Given the description of an element on the screen output the (x, y) to click on. 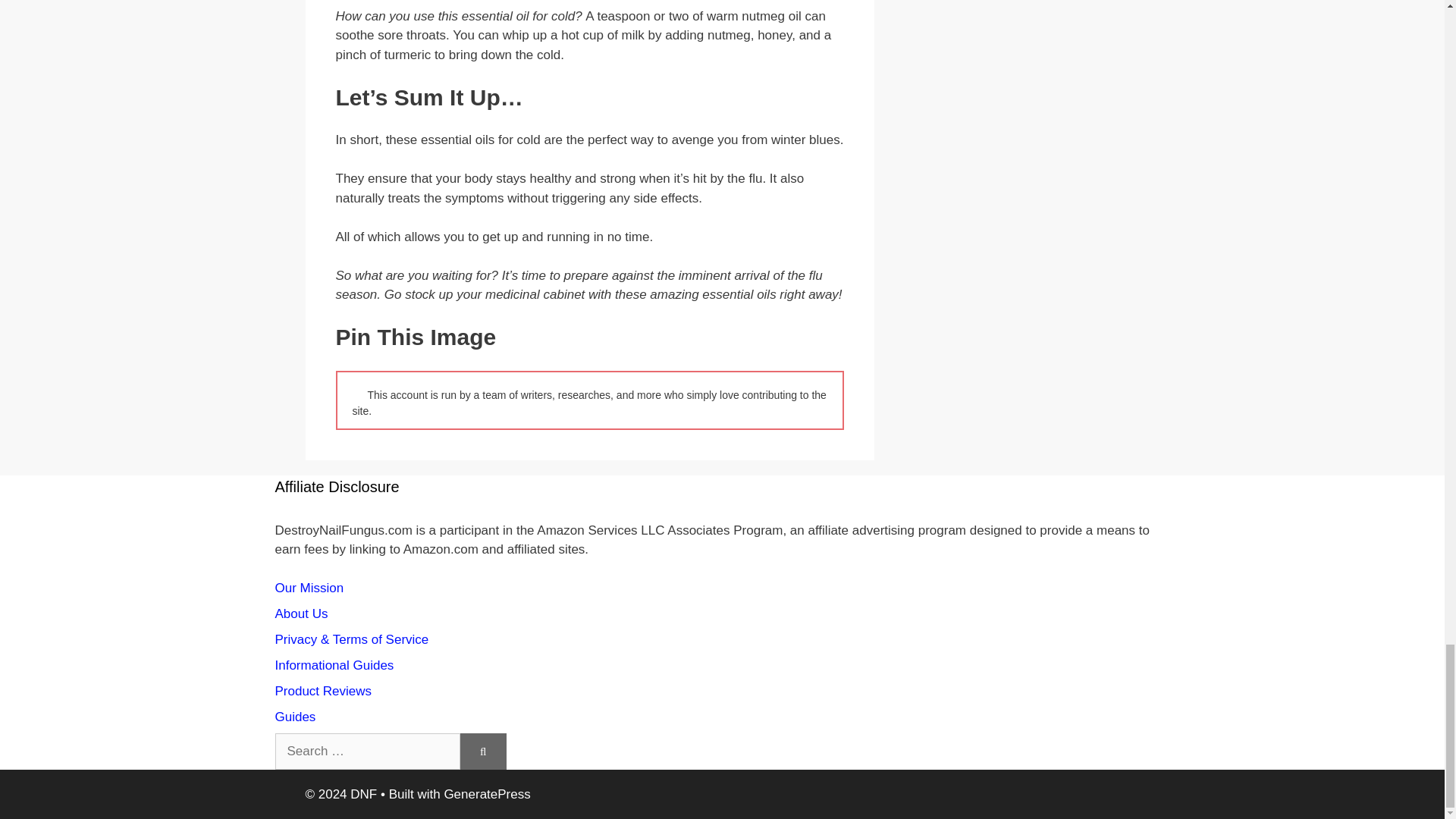
Guides (295, 716)
GeneratePress (486, 794)
Product Reviews (323, 690)
About Us (301, 613)
Search for: (367, 751)
Our Mission (309, 587)
Informational Guides (334, 665)
